Given the description of an element on the screen output the (x, y) to click on. 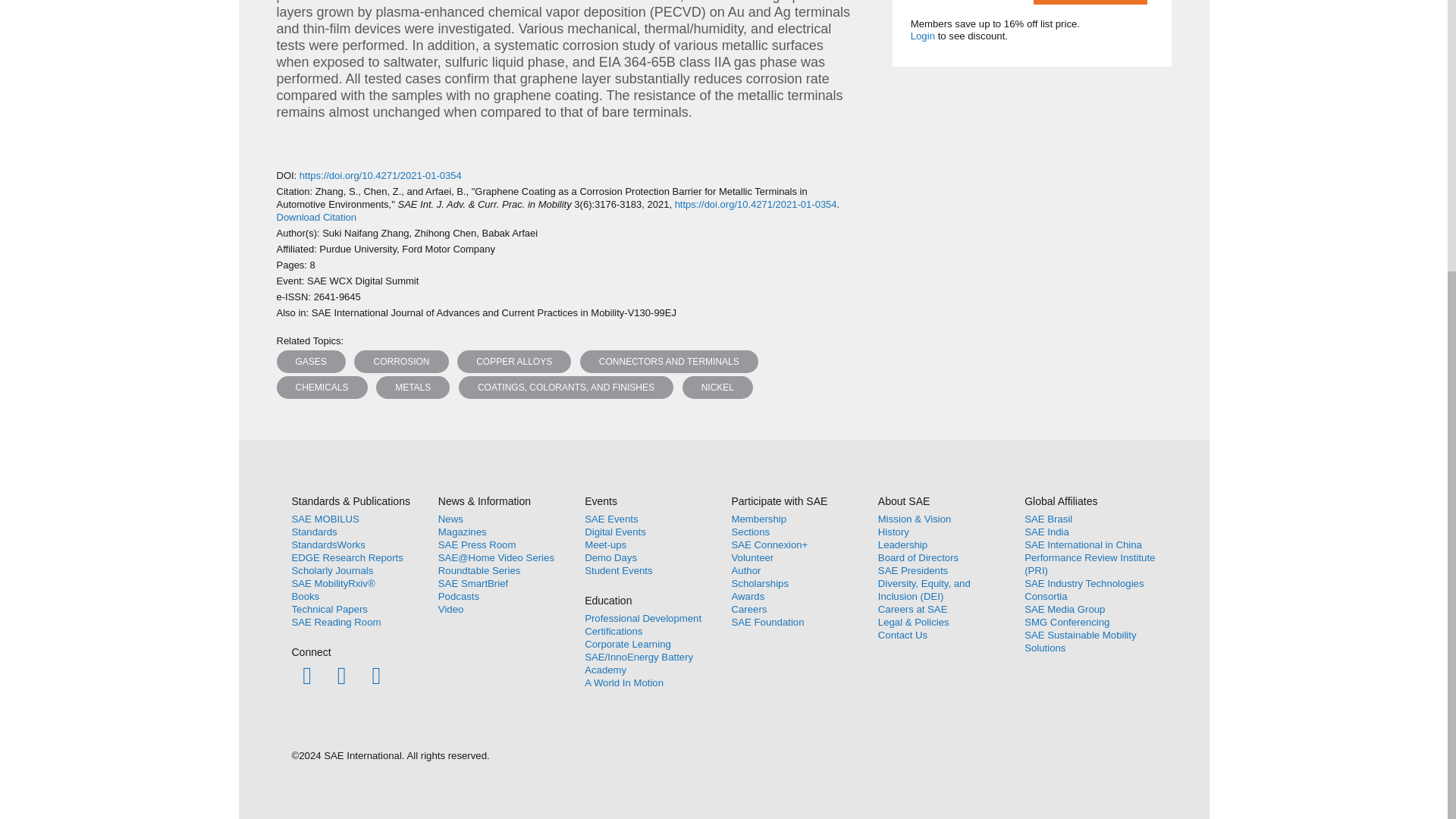
Twitter (341, 675)
Facebook (306, 675)
LinkedIn (376, 675)
